Given the description of an element on the screen output the (x, y) to click on. 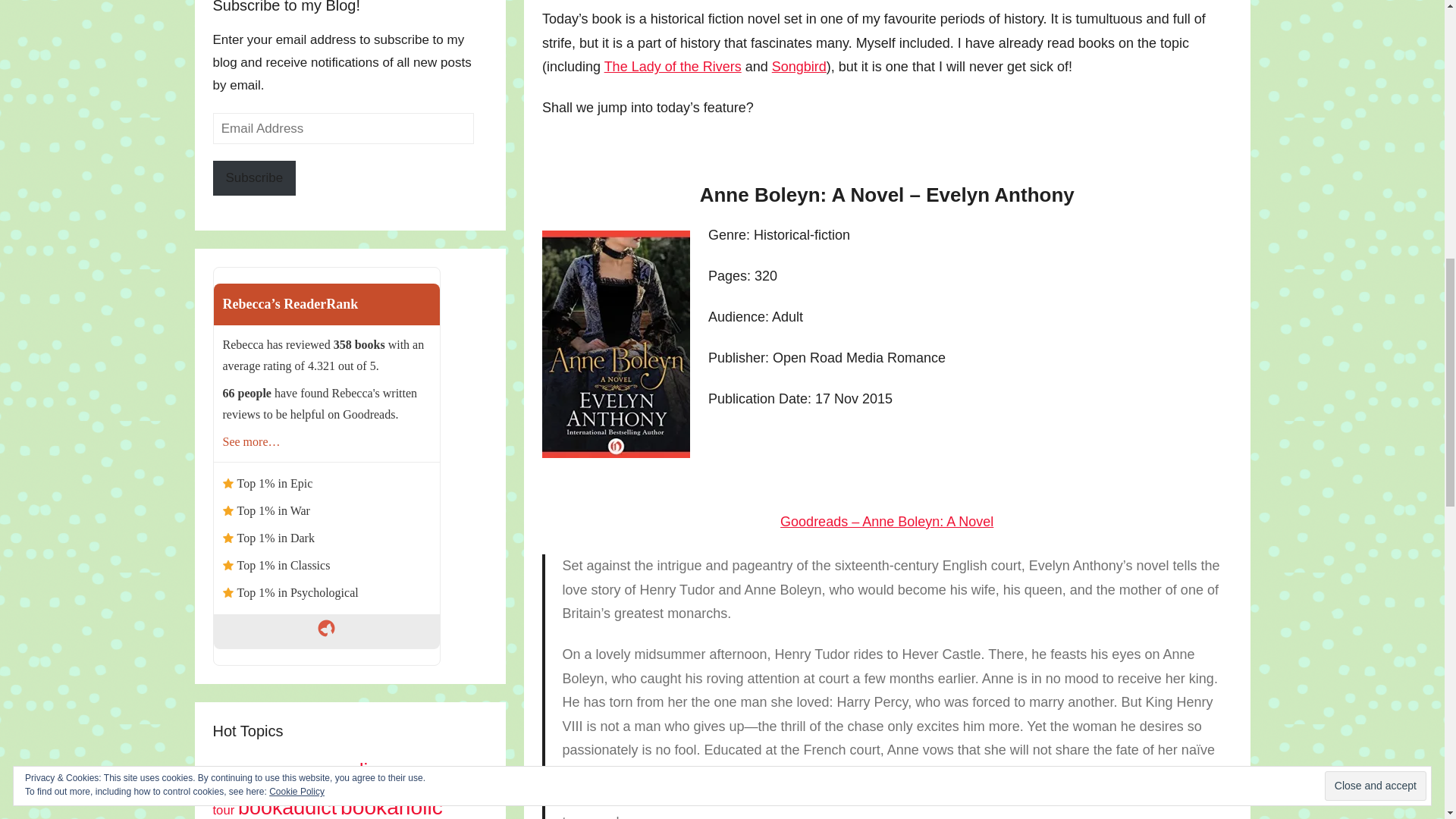
The Lady of the Rivers (672, 66)
Songbird (799, 66)
A Game of Thrones (253, 774)
Subscribe (253, 178)
amreading (343, 770)
